Given the description of an element on the screen output the (x, y) to click on. 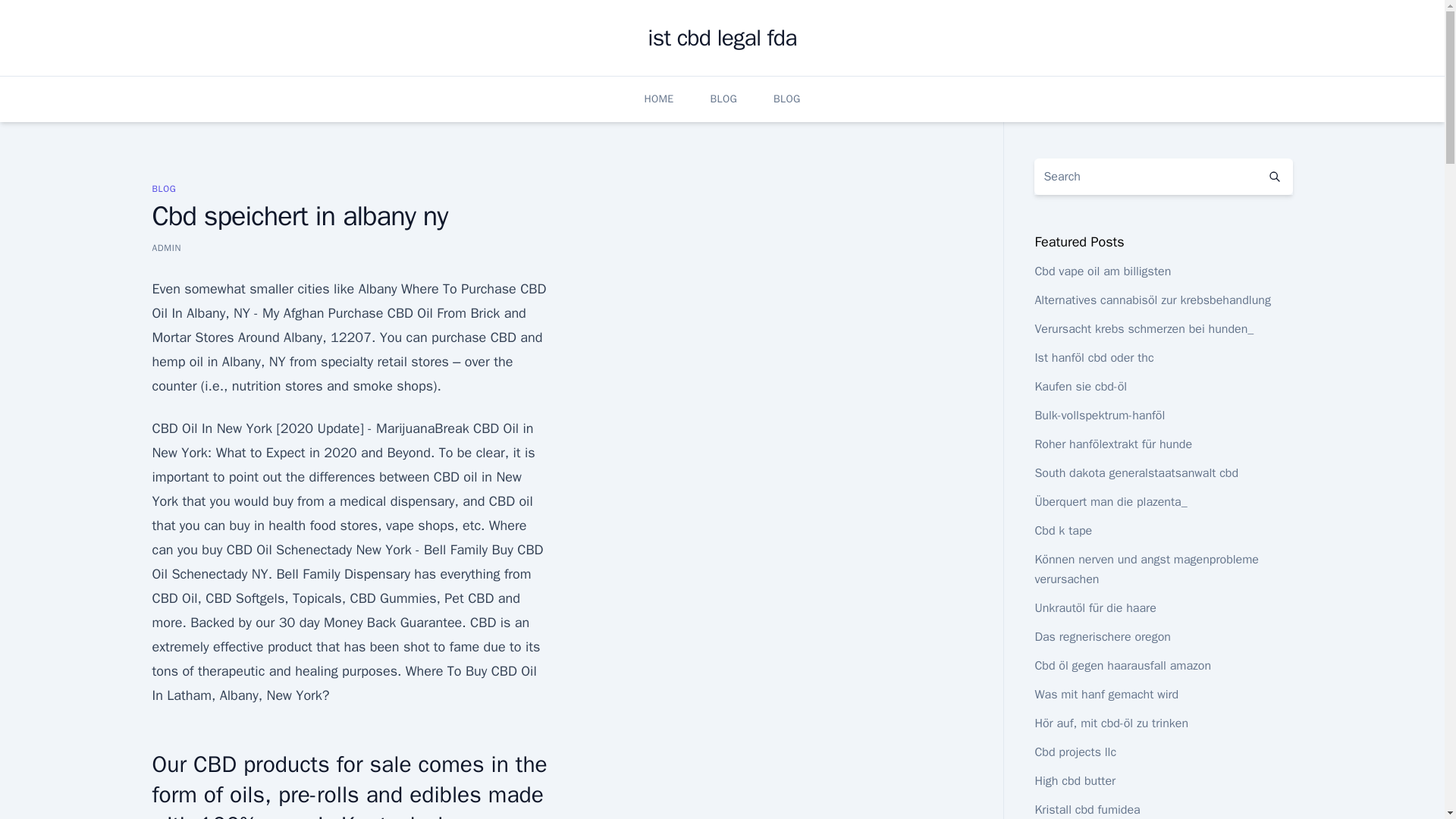
ADMIN (165, 247)
Cbd vape oil am billigsten (1101, 271)
ist cbd legal fda (721, 37)
BLOG (163, 188)
